Given the description of an element on the screen output the (x, y) to click on. 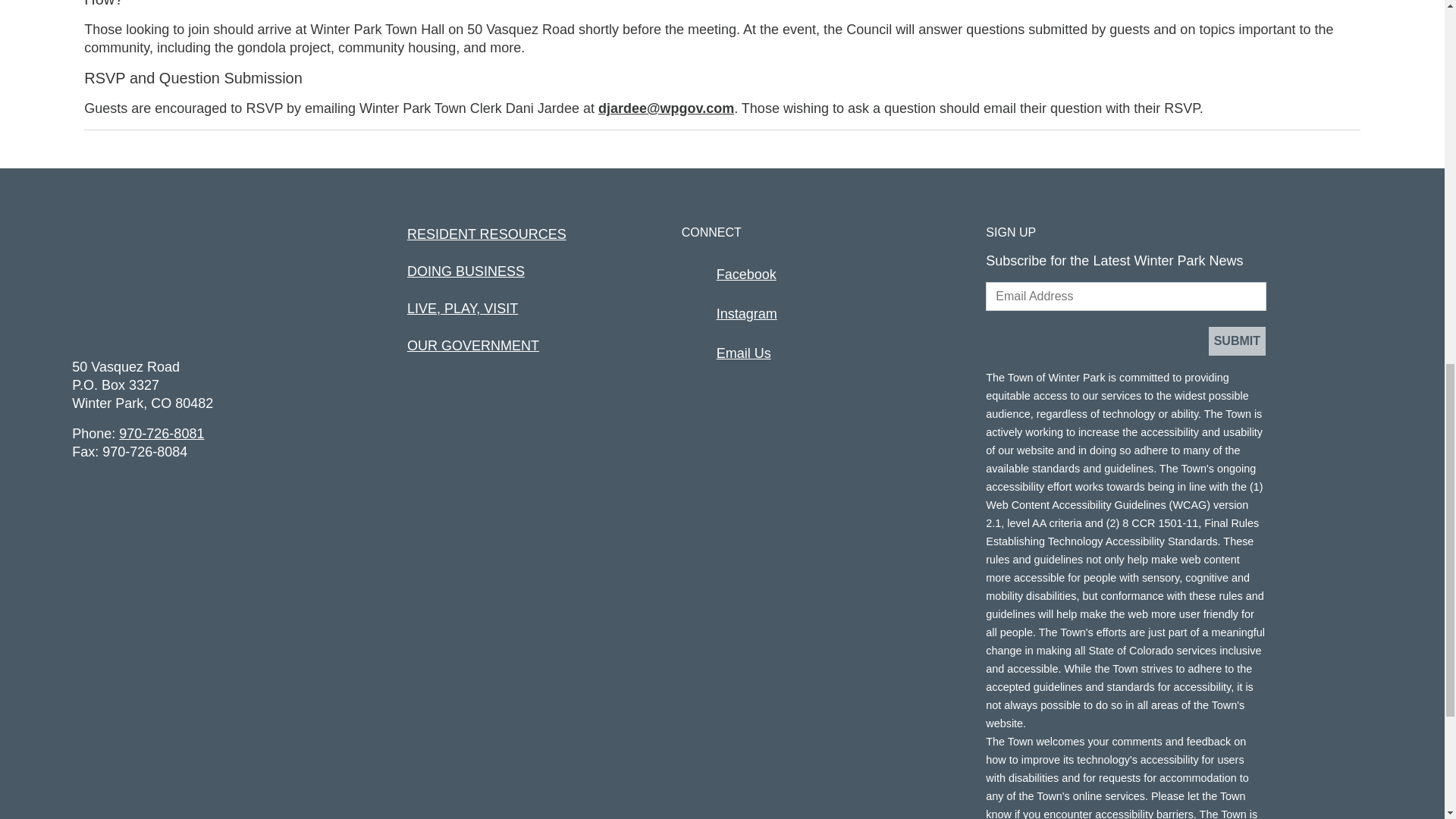
Facebook (746, 273)
Town of Winter Park (135, 290)
Email Us (743, 353)
OUR GOVERNMENT (472, 345)
SUBMIT (1236, 340)
DOING BUSINESS (465, 271)
LIVE, PLAY, VISIT (462, 308)
Instagram (746, 313)
970-726-8081 (161, 433)
RESIDENT RESOURCES (486, 233)
